Given the description of an element on the screen output the (x, y) to click on. 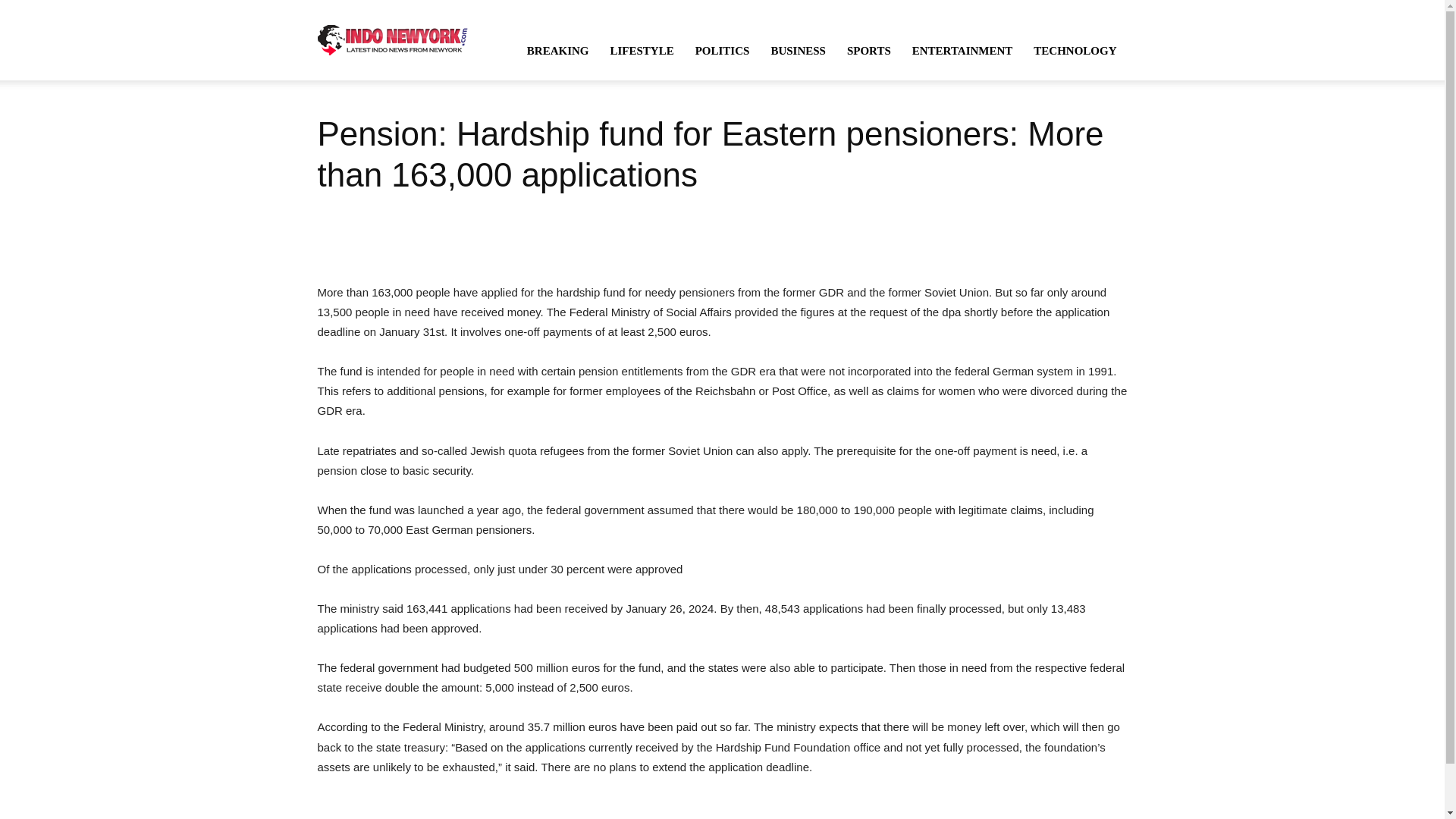
SPORTS (868, 50)
BUSINESS (797, 50)
BREAKING (557, 50)
ENTERTAINMENT (962, 50)
POLITICS (722, 50)
TECHNOLOGY (1074, 50)
Indo Newyork (392, 39)
LIFESTYLE (641, 50)
